Given the description of an element on the screen output the (x, y) to click on. 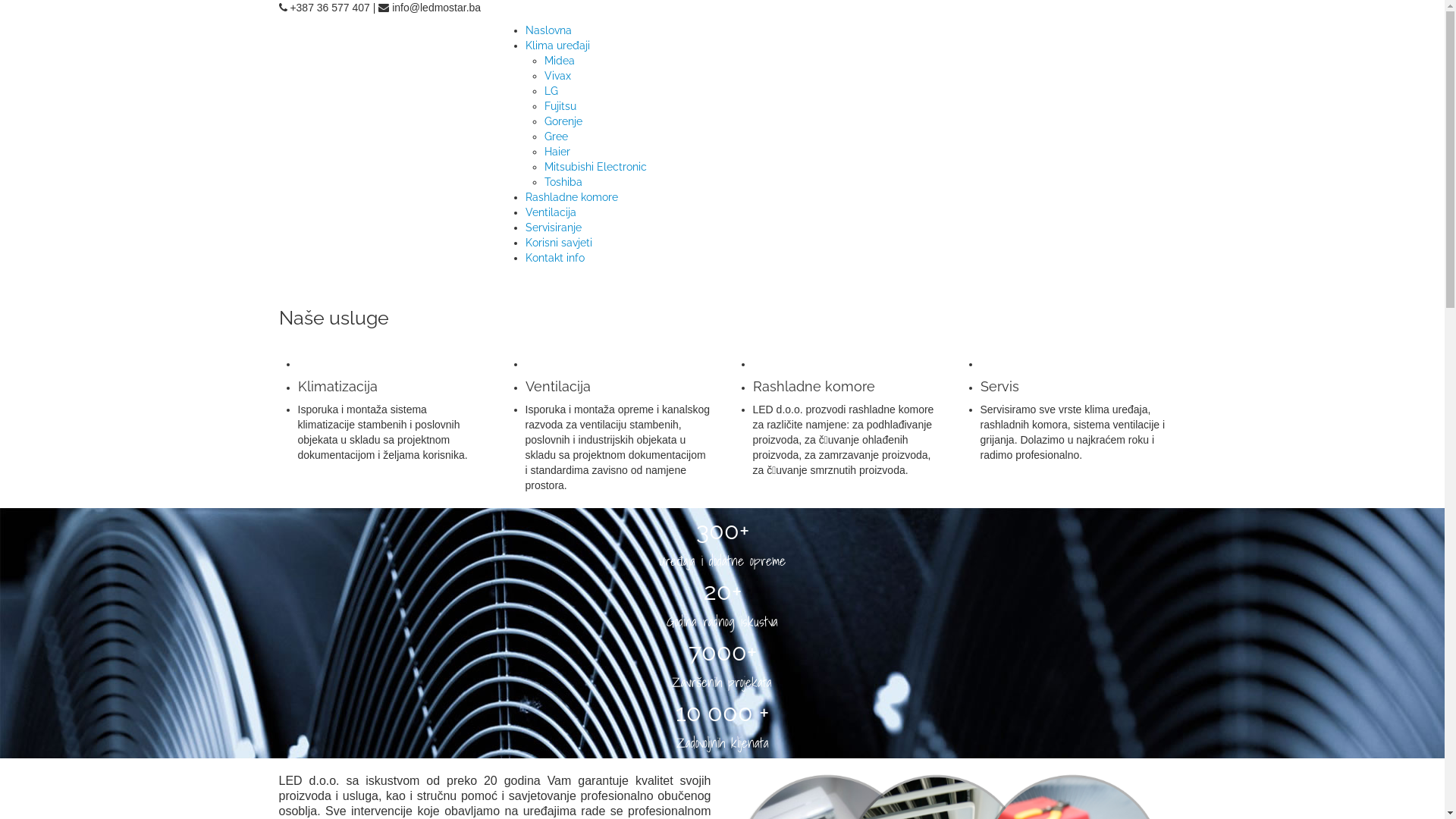
Fujitsu Element type: text (560, 106)
Midea Element type: text (559, 60)
Vivax Element type: text (557, 75)
LG Element type: text (551, 90)
Kontakt info Element type: text (553, 257)
Korisni savjeti Element type: text (557, 242)
Naslovna Element type: text (547, 30)
Mitsubishi Electronic Element type: text (595, 166)
Servisiranje Element type: text (552, 227)
Rashladne komore Element type: text (570, 197)
Ventilacija Element type: text (549, 212)
Toshiba Element type: text (563, 181)
Haier Element type: text (557, 151)
Gree Element type: text (555, 136)
Gorenje Element type: text (563, 121)
